Given the description of an element on the screen output the (x, y) to click on. 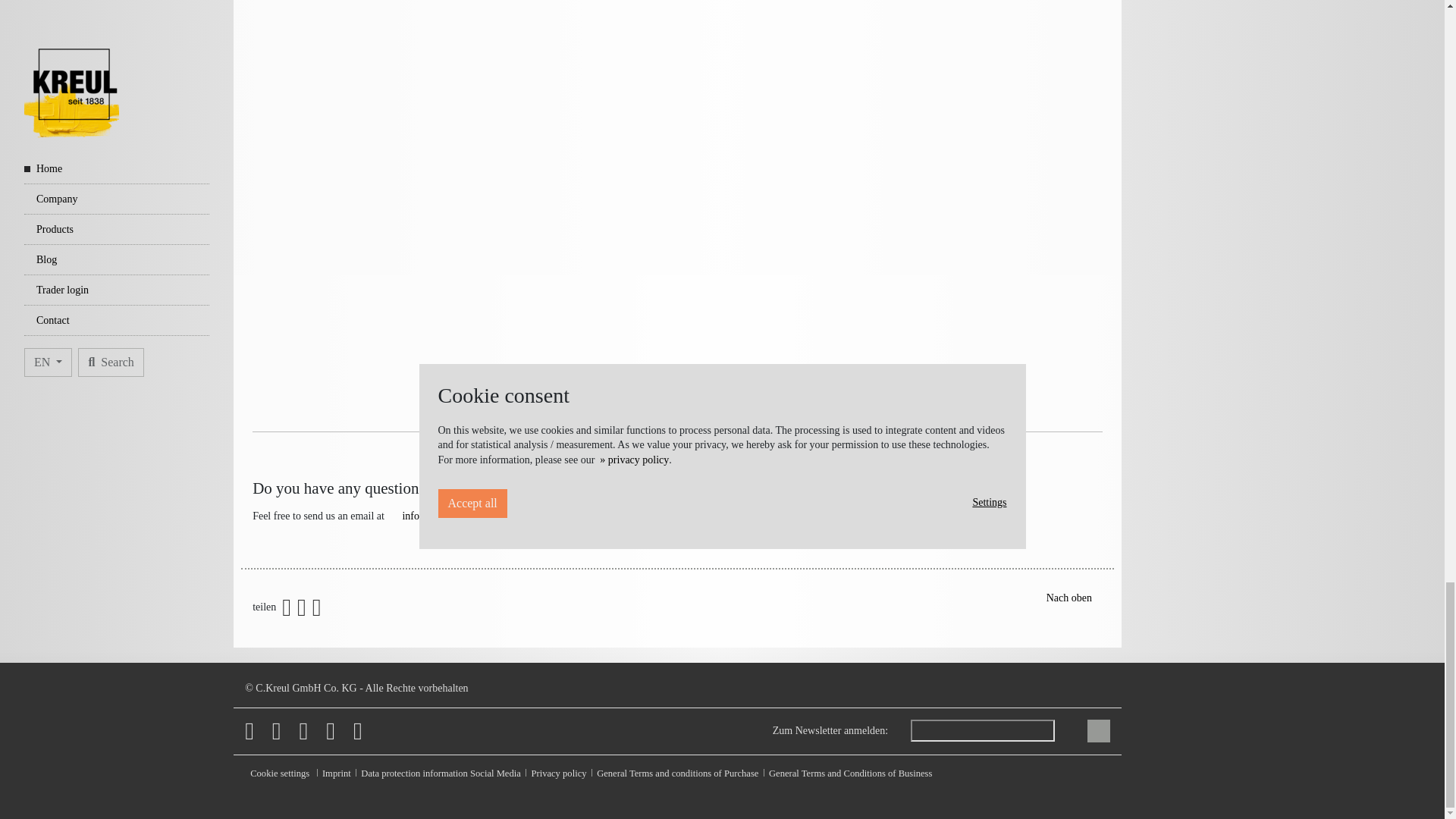
Anmelden (1098, 730)
